Given the description of an element on the screen output the (x, y) to click on. 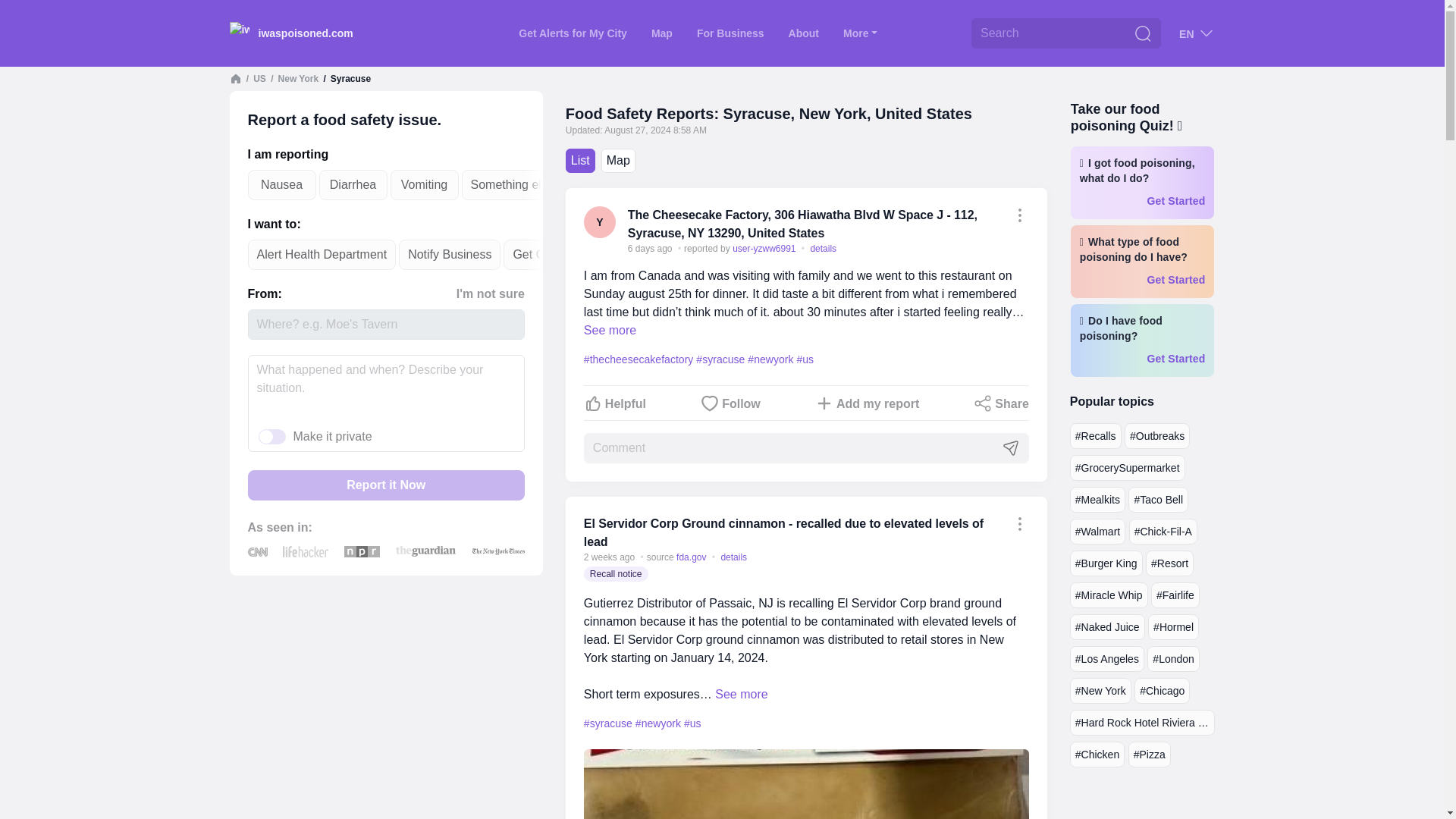
New York (298, 78)
US (259, 78)
Copied (1019, 524)
Report it Now (385, 485)
EN (1196, 33)
iwaspoisoned.com (290, 33)
Map (661, 33)
For Business (730, 33)
Get Alerts for My City (572, 33)
